Given the description of an element on the screen output the (x, y) to click on. 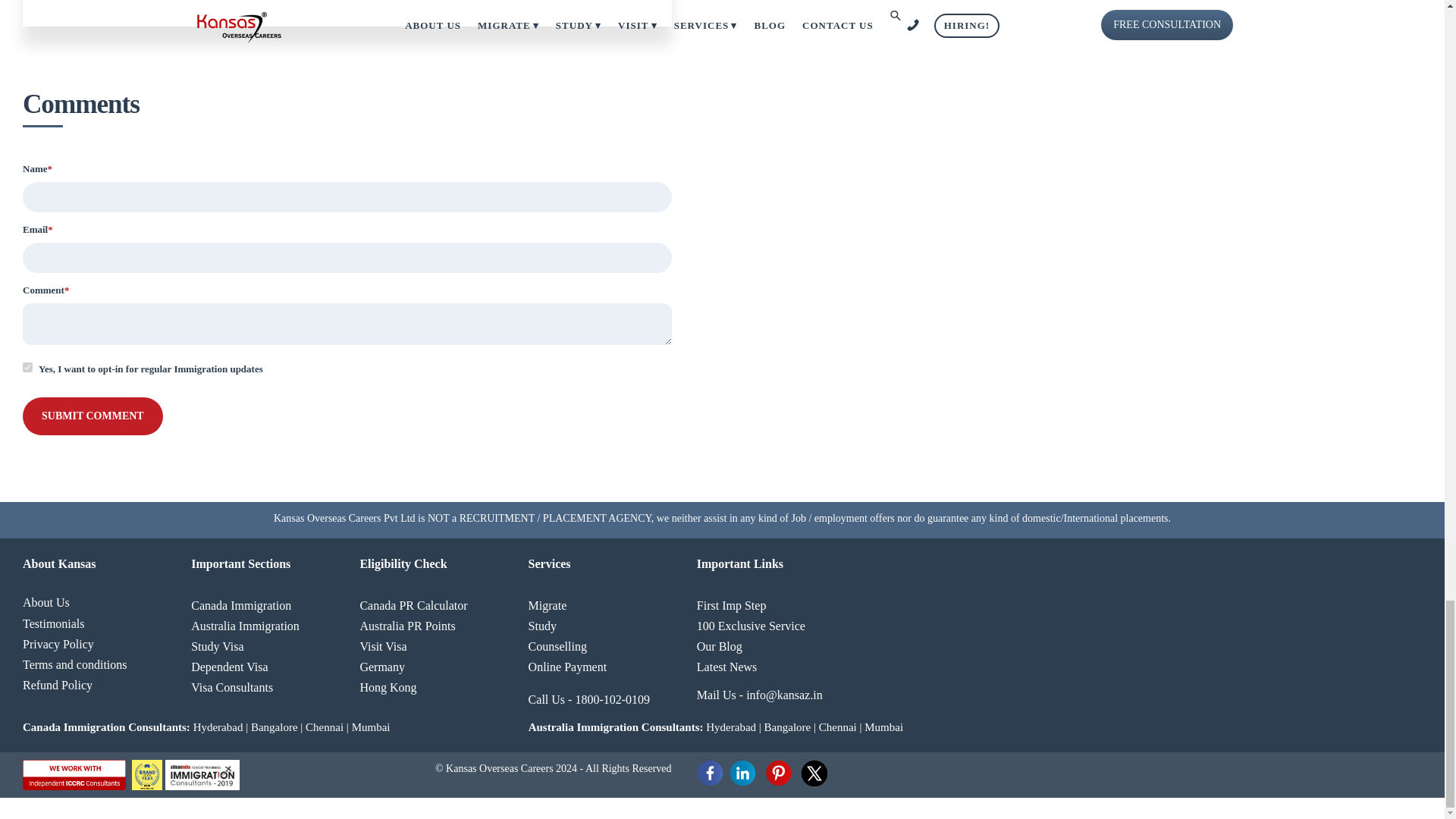
Submit Comment (93, 415)
true (27, 367)
